Given the description of an element on the screen output the (x, y) to click on. 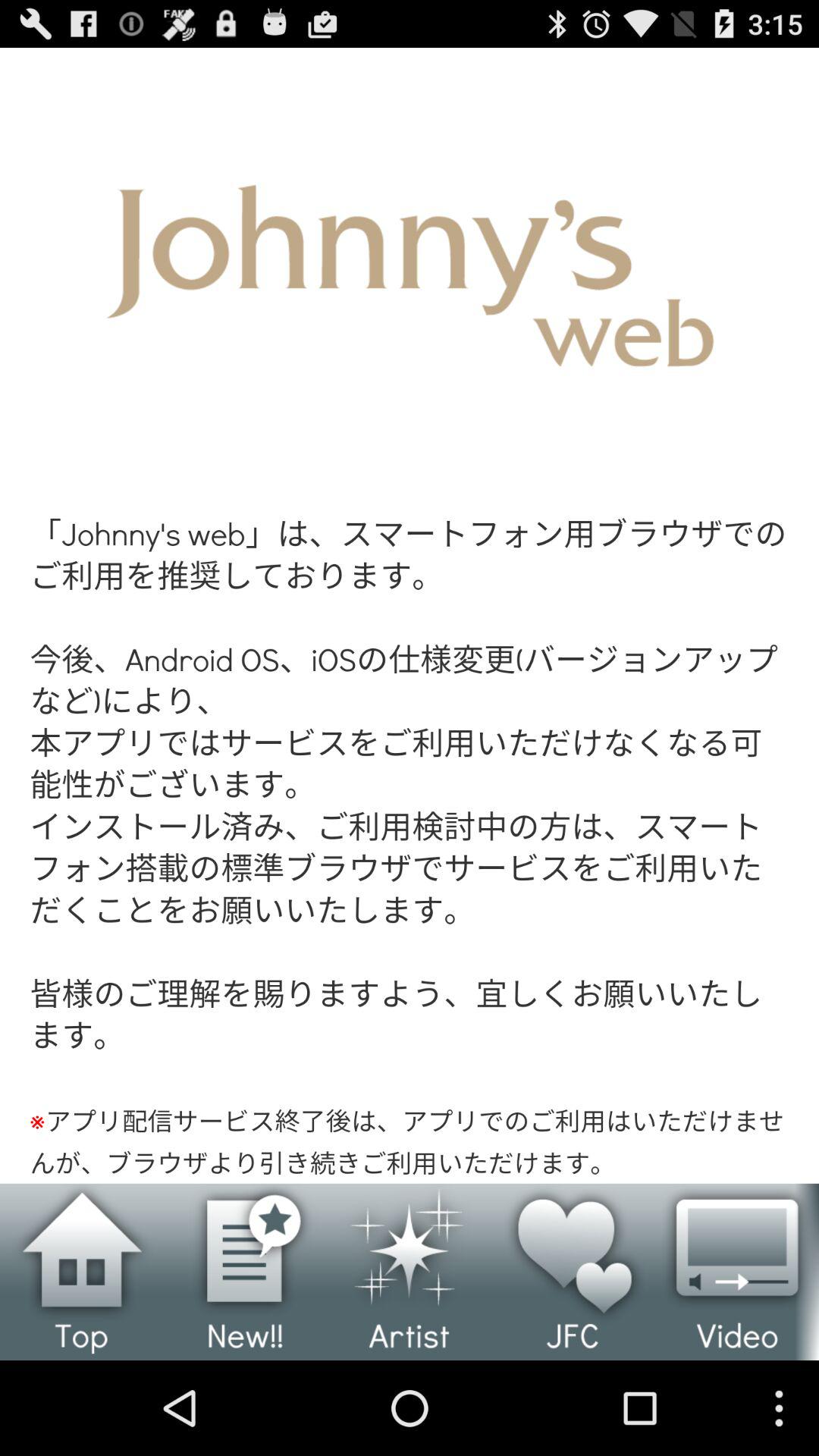
go to new content (245, 1271)
